Given the description of an element on the screen output the (x, y) to click on. 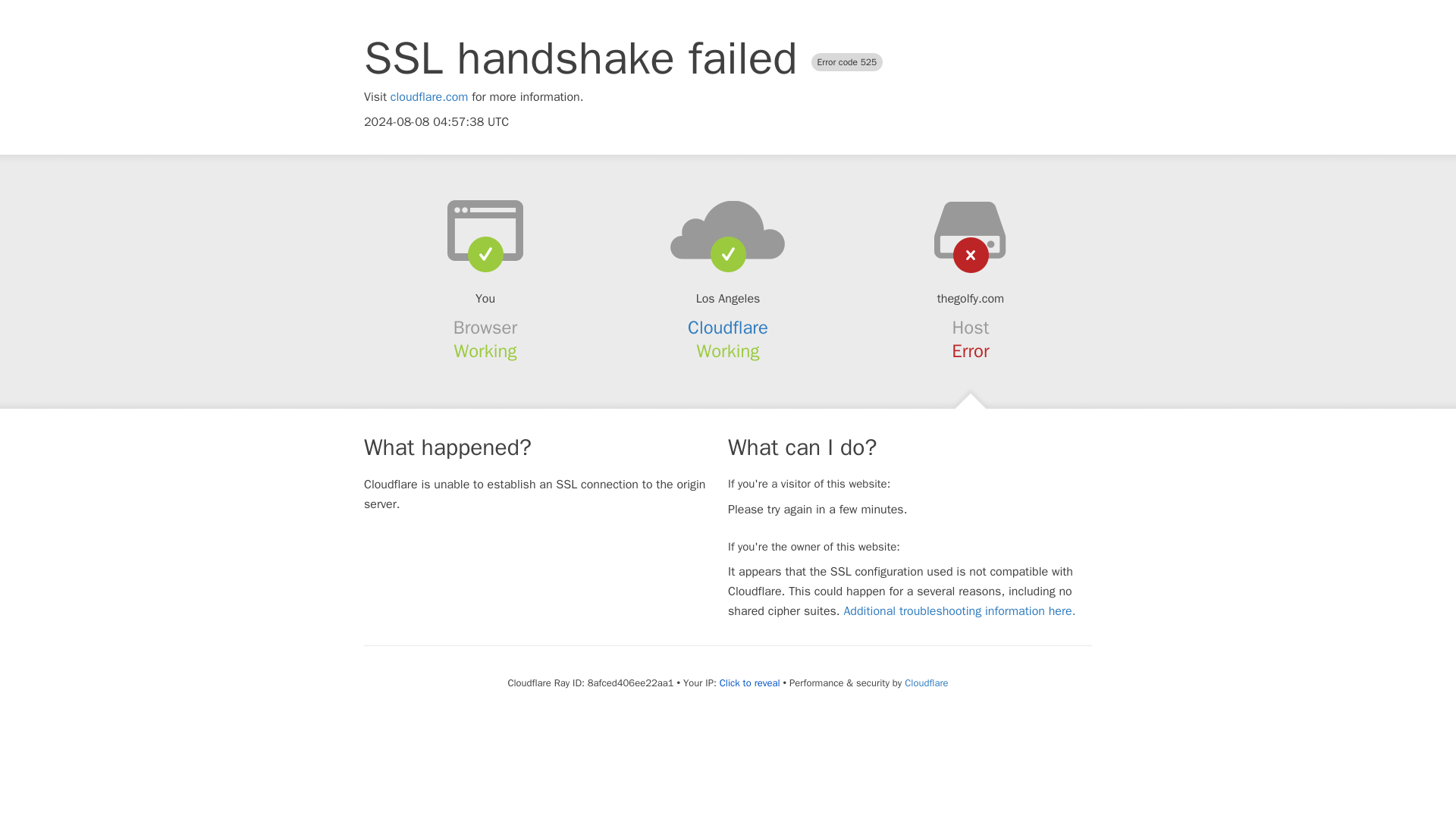
Click to reveal (749, 683)
Additional troubleshooting information here. (959, 611)
Cloudflare (925, 682)
Cloudflare (727, 327)
cloudflare.com (429, 96)
